Given the description of an element on the screen output the (x, y) to click on. 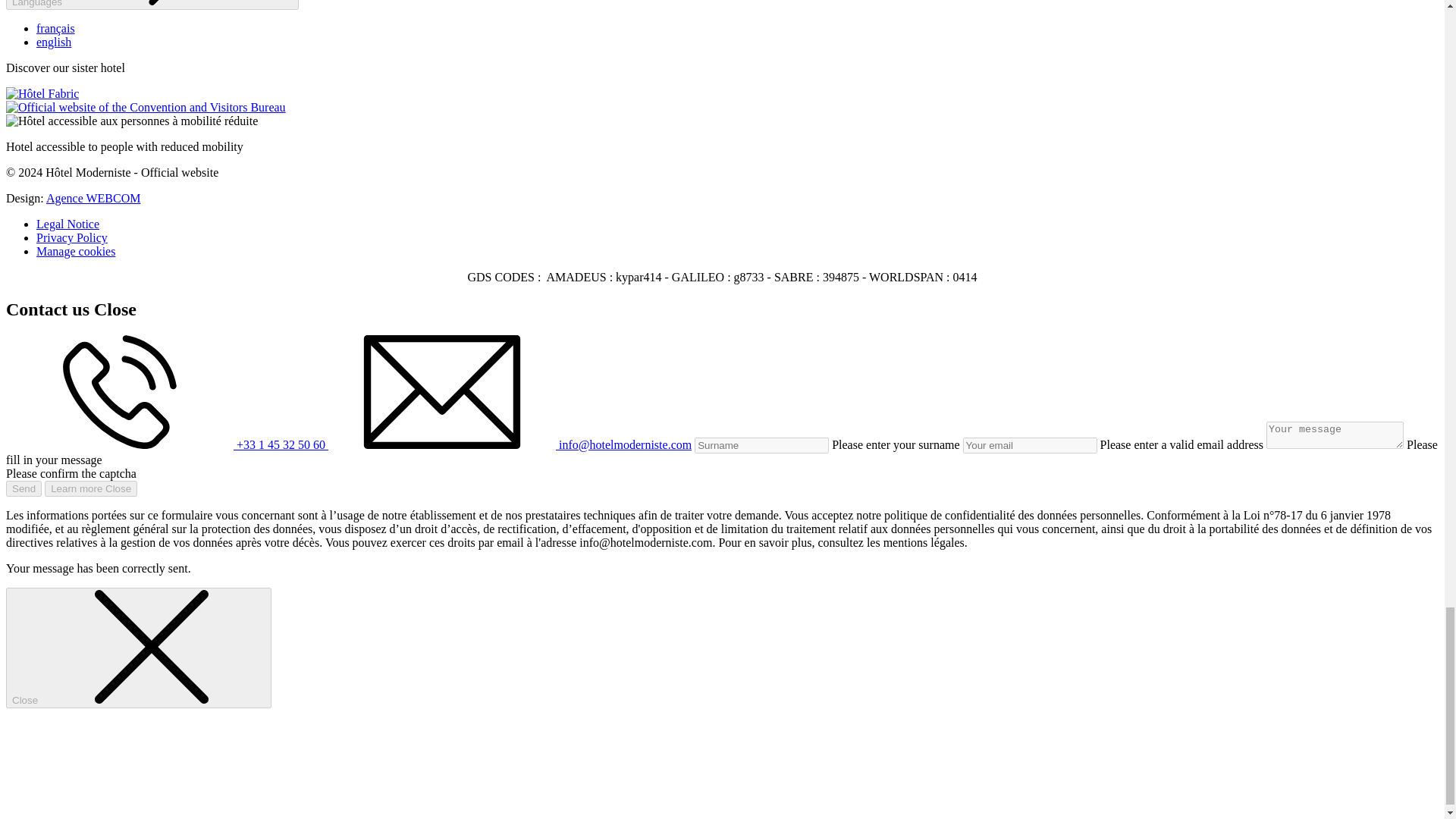
Languages (151, 4)
Send (23, 488)
